Given the description of an element on the screen output the (x, y) to click on. 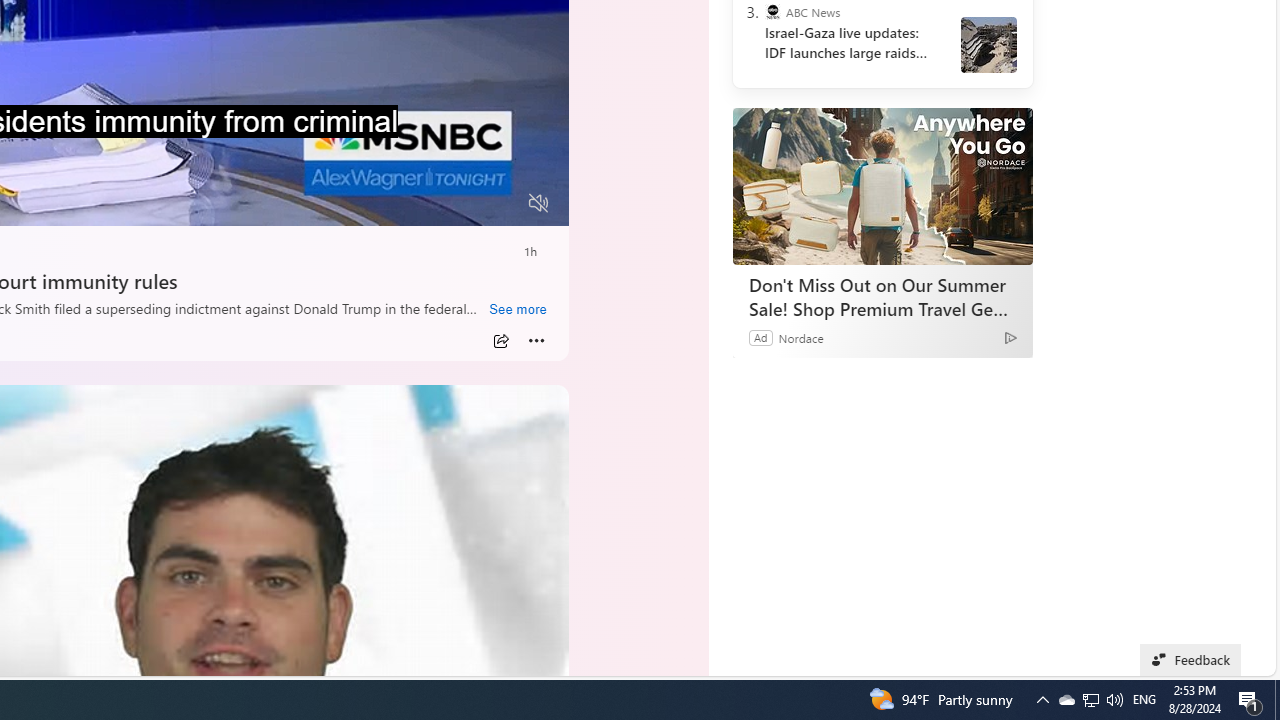
Ad (760, 337)
ABC News (772, 12)
Fullscreen (500, 203)
More (536, 340)
Share (501, 340)
Feedback (1190, 659)
See more (517, 309)
Unmute (538, 203)
More (536, 340)
Quality Settings (420, 203)
Captions (461, 203)
